Given the description of an element on the screen output the (x, y) to click on. 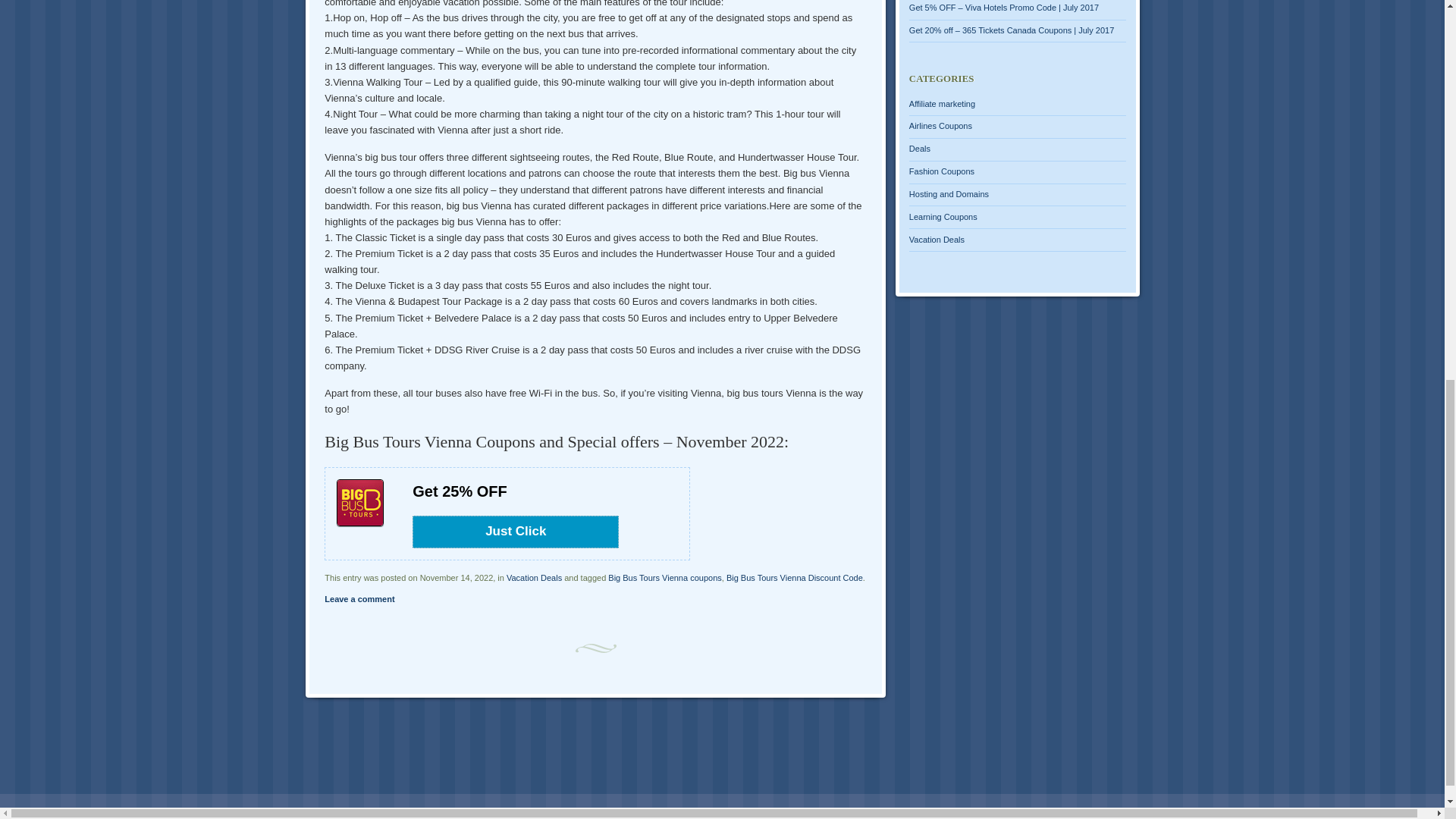
Big Bus Tours Vienna Discount Code (794, 577)
Leave a comment (359, 598)
Affiliate marketing (941, 103)
Learning Coupons (942, 216)
Deals (919, 148)
Vacation Deals (935, 239)
Vacation Deals (534, 577)
Hosting and Domains (948, 194)
Airlines Coupons (940, 125)
Semantic Personal Publishing Platform (264, 809)
Fashion Coupons (941, 171)
Big Bus Tours Vienna coupons (664, 577)
